Given the description of an element on the screen output the (x, y) to click on. 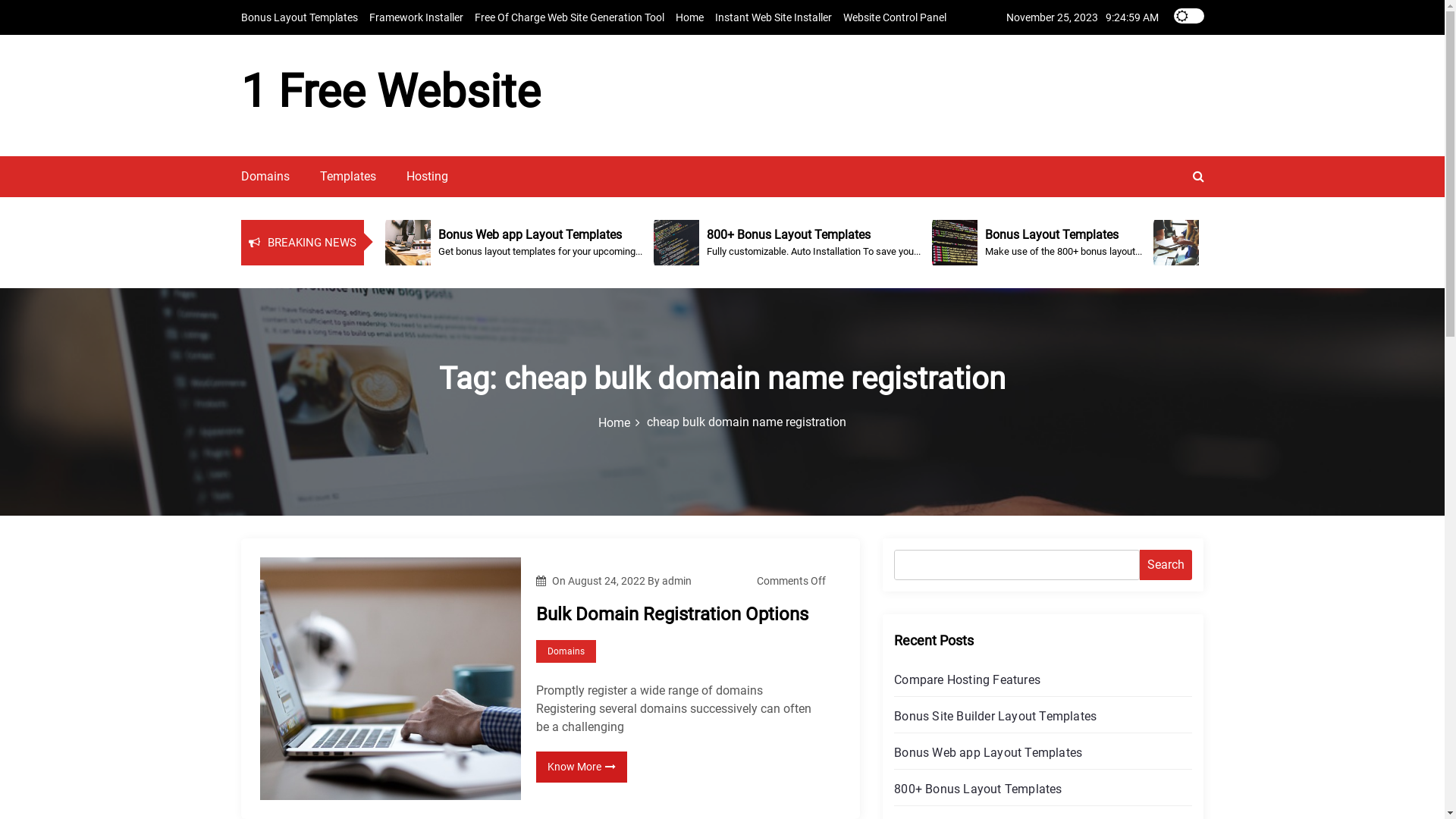
Framework Installer Element type: text (415, 17)
Compare Hosting Features Element type: text (967, 679)
Free Of Charge Web Site Generation Tool Element type: text (569, 17)
1 Free Website Element type: text (390, 91)
admin Element type: text (676, 580)
Instant Web Site Installer Element type: text (772, 17)
Bonus Layout Templates
Make use of the 800+ bonus layout... Element type: text (1082, 242)
Know More Element type: text (581, 766)
800+ Bonus Layout Templates Element type: text (977, 788)
Domains Element type: text (265, 176)
Bulk Domain Registration Options Element type: text (680, 614)
Home Element type: text (619, 422)
Home Element type: text (688, 17)
Bonus Layout Templates Element type: text (299, 17)
Hosting Element type: text (427, 176)
August 24, 2022 Element type: text (607, 580)
Search Element type: text (1165, 564)
Website Control Panel Element type: text (894, 17)
Templates Element type: text (348, 176)
Bonus Web app Layout Templates Element type: text (988, 752)
Domains Element type: text (566, 651)
Bonus Site Builder Layout Templates Element type: text (995, 716)
